Given the description of an element on the screen output the (x, y) to click on. 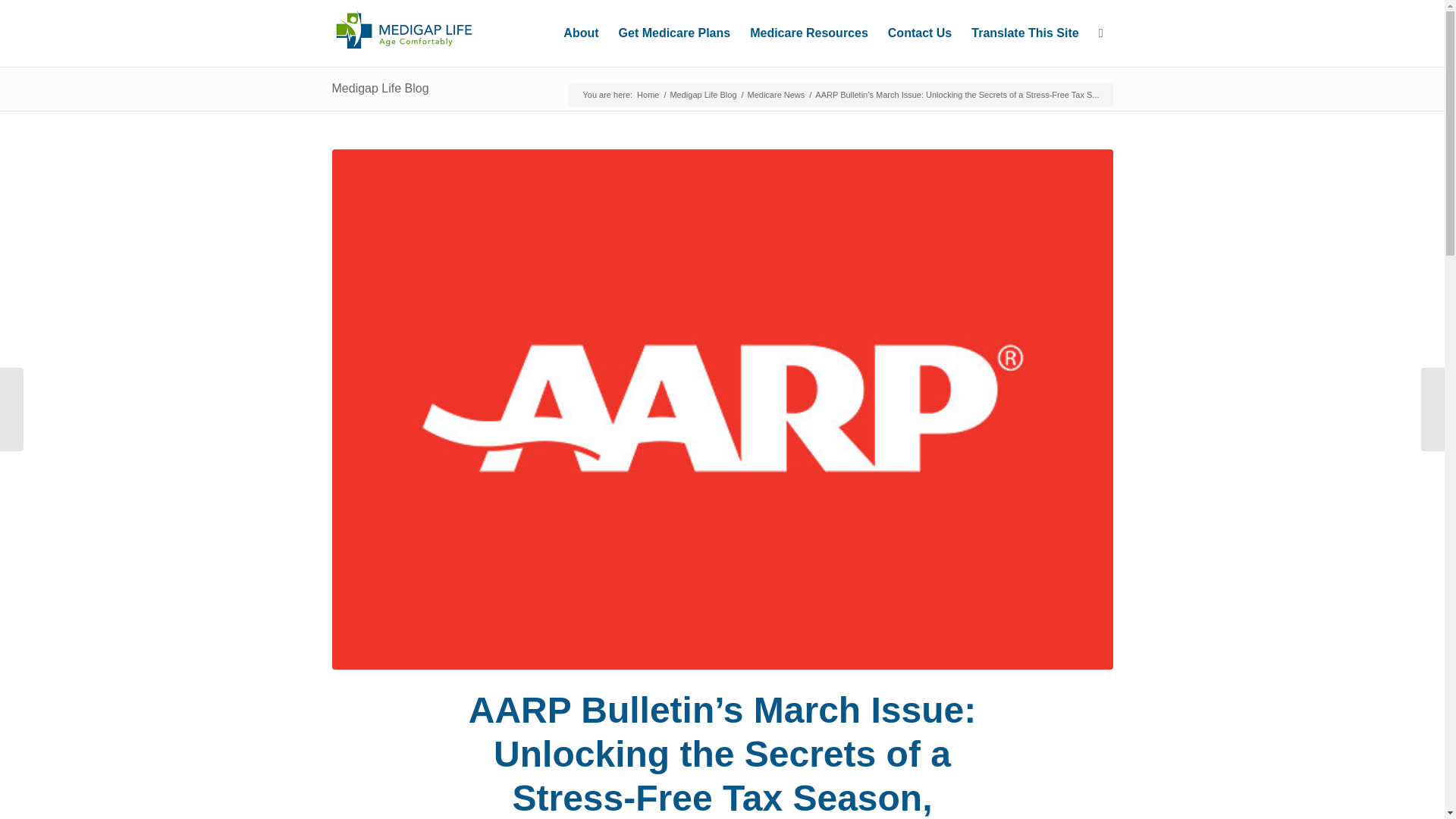
Translate This Site (1023, 33)
Contact Us (918, 33)
Medigap Life (647, 94)
Permanent Link: Medigap Life Blog (380, 88)
Medigap Life Blog (380, 88)
Home (647, 94)
Medigap Life Blog (702, 94)
Get Medicare Plans (674, 33)
Medicare Resources (808, 33)
